Given the description of an element on the screen output the (x, y) to click on. 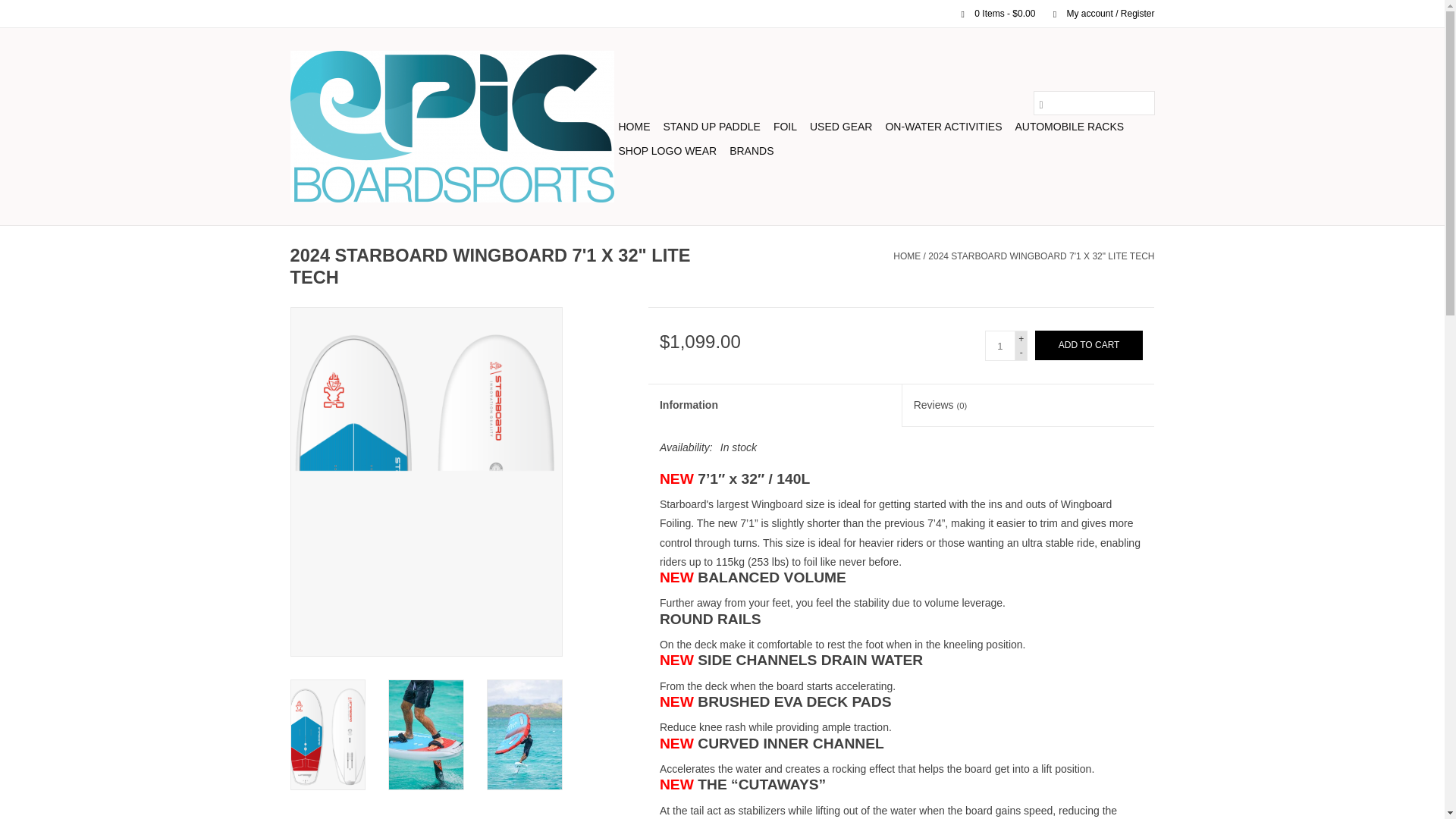
2024 STARBOARD WINGBOARD 7'1 X 32" LITE TECH (1041, 255)
ADD TO CART (1088, 345)
STAND UP PADDLE (711, 125)
My account (1096, 13)
1 (999, 345)
AUTOMOBILE RACKS (1069, 125)
Epic Boardsports (450, 126)
FOIL (785, 125)
SHOP LOGO WEAR (668, 150)
FOIL (785, 125)
ON-WATER ACTIVITIES (943, 125)
Information (774, 405)
STAND UP PADDLE (711, 125)
USED GEAR (840, 125)
USED GEAR (840, 125)
